Given the description of an element on the screen output the (x, y) to click on. 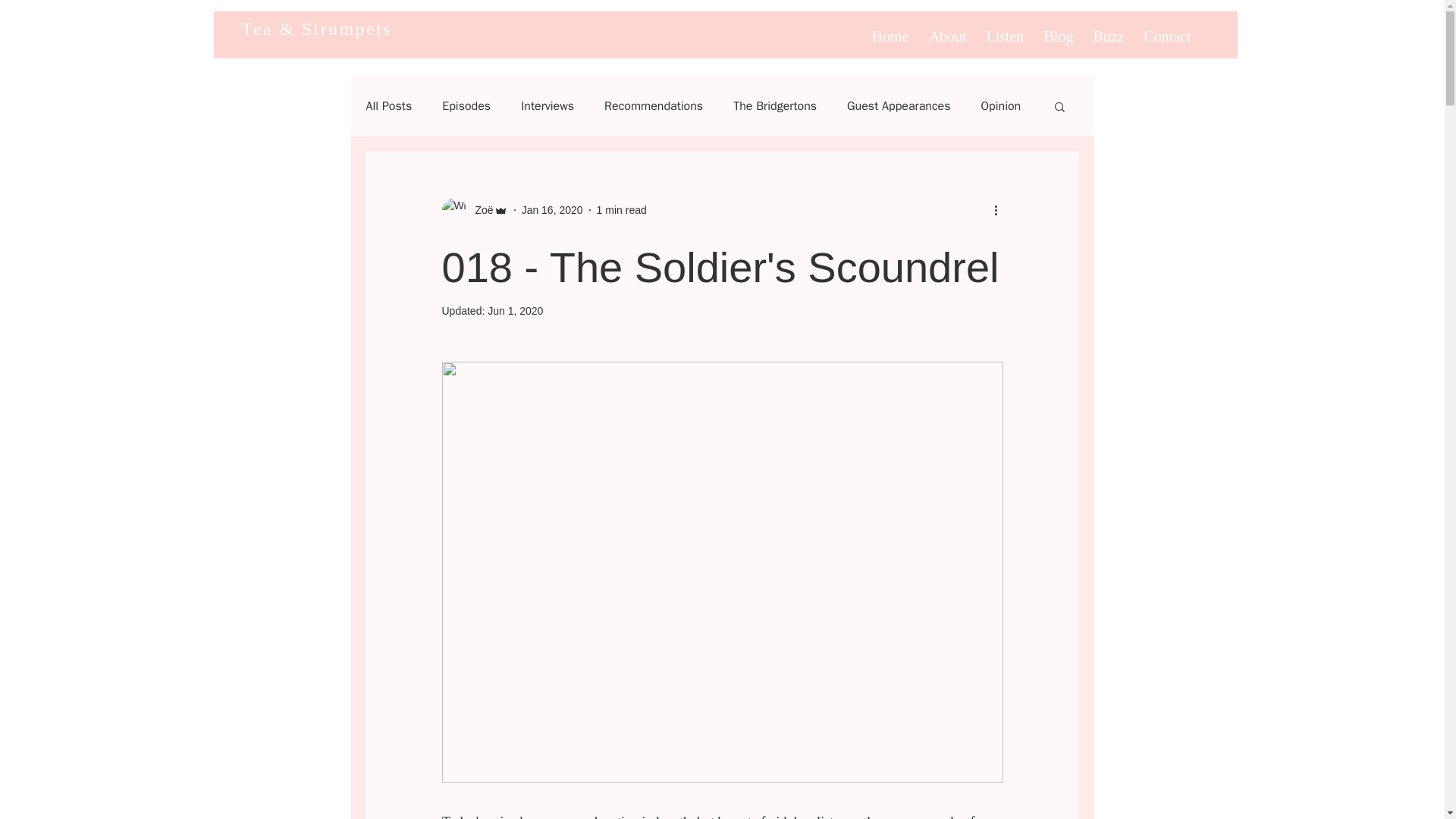
All Posts (388, 106)
Listen (1004, 29)
About (947, 29)
Buzz (1108, 29)
The Bridgertons (774, 106)
Home (889, 29)
Contact (1167, 29)
Interviews (547, 106)
Episodes (466, 106)
Jun 1, 2020 (515, 310)
